Given the description of an element on the screen output the (x, y) to click on. 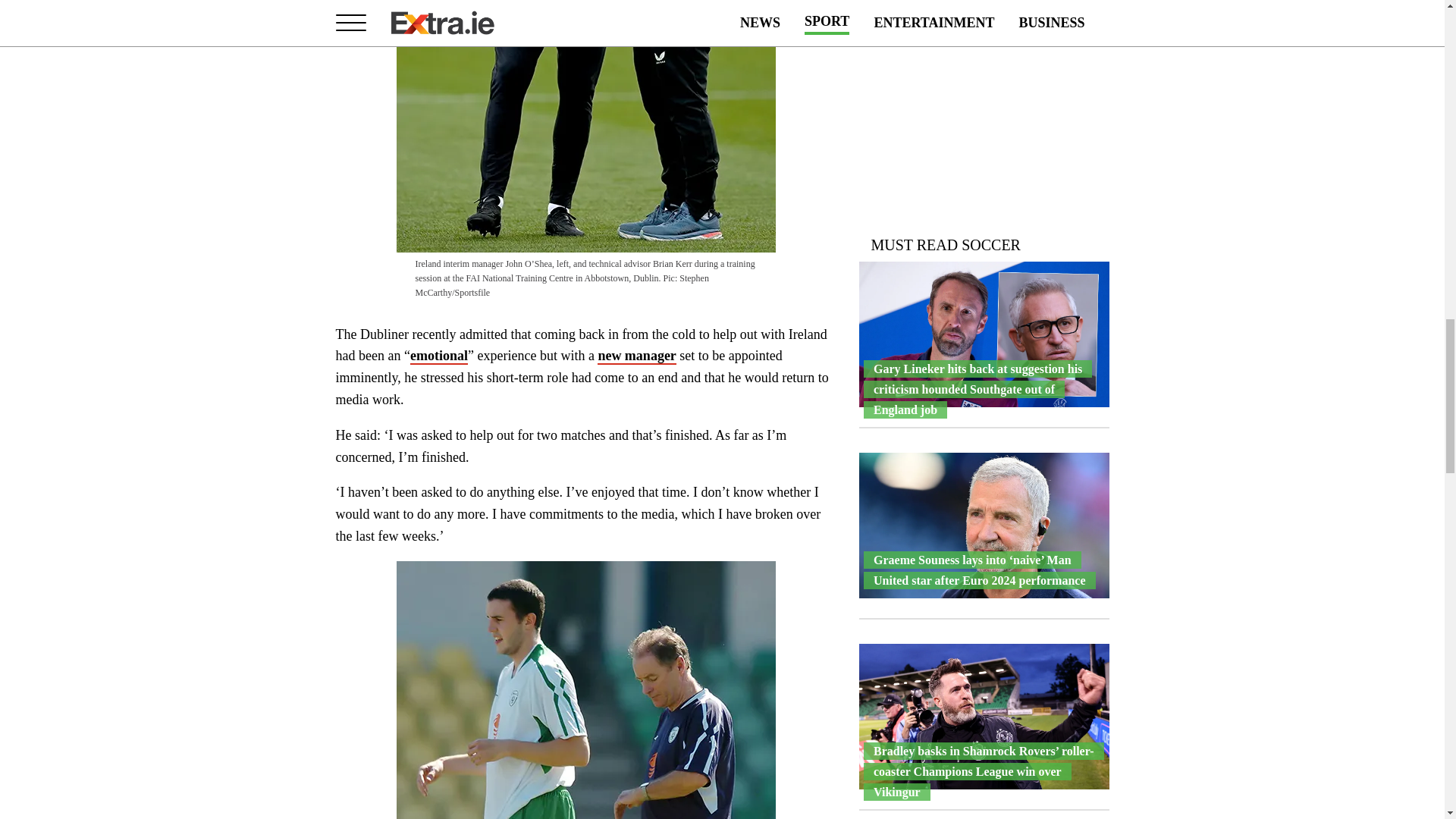
new manager (635, 356)
emotional (438, 356)
